Given the description of an element on the screen output the (x, y) to click on. 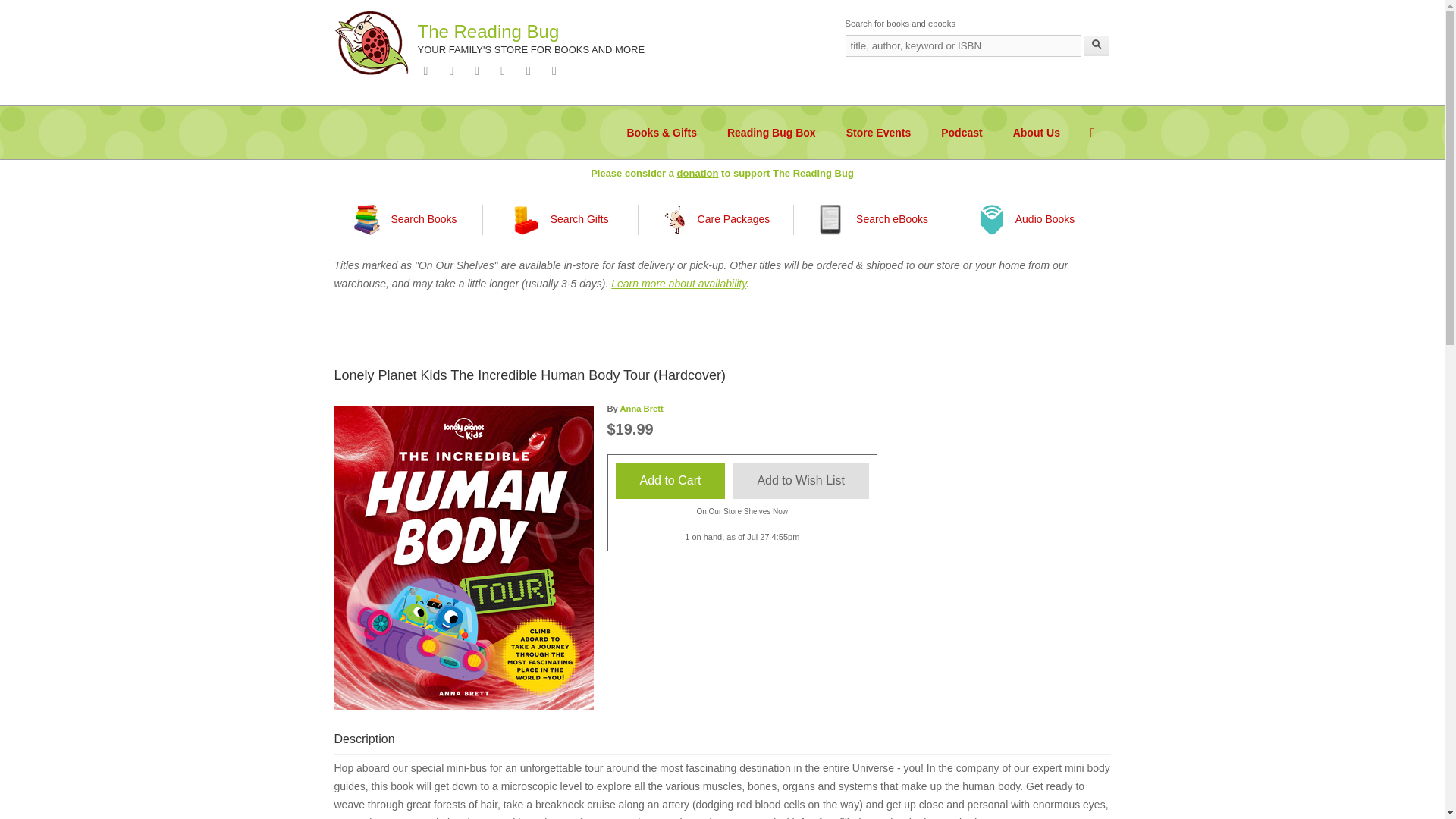
Search (1096, 46)
Add to Wish List (800, 480)
Enter the terms you wish to search for. (962, 45)
Home (487, 31)
Home (371, 42)
Search (1096, 46)
The Reading Bug (487, 31)
Add to Cart (670, 480)
